Given the description of an element on the screen output the (x, y) to click on. 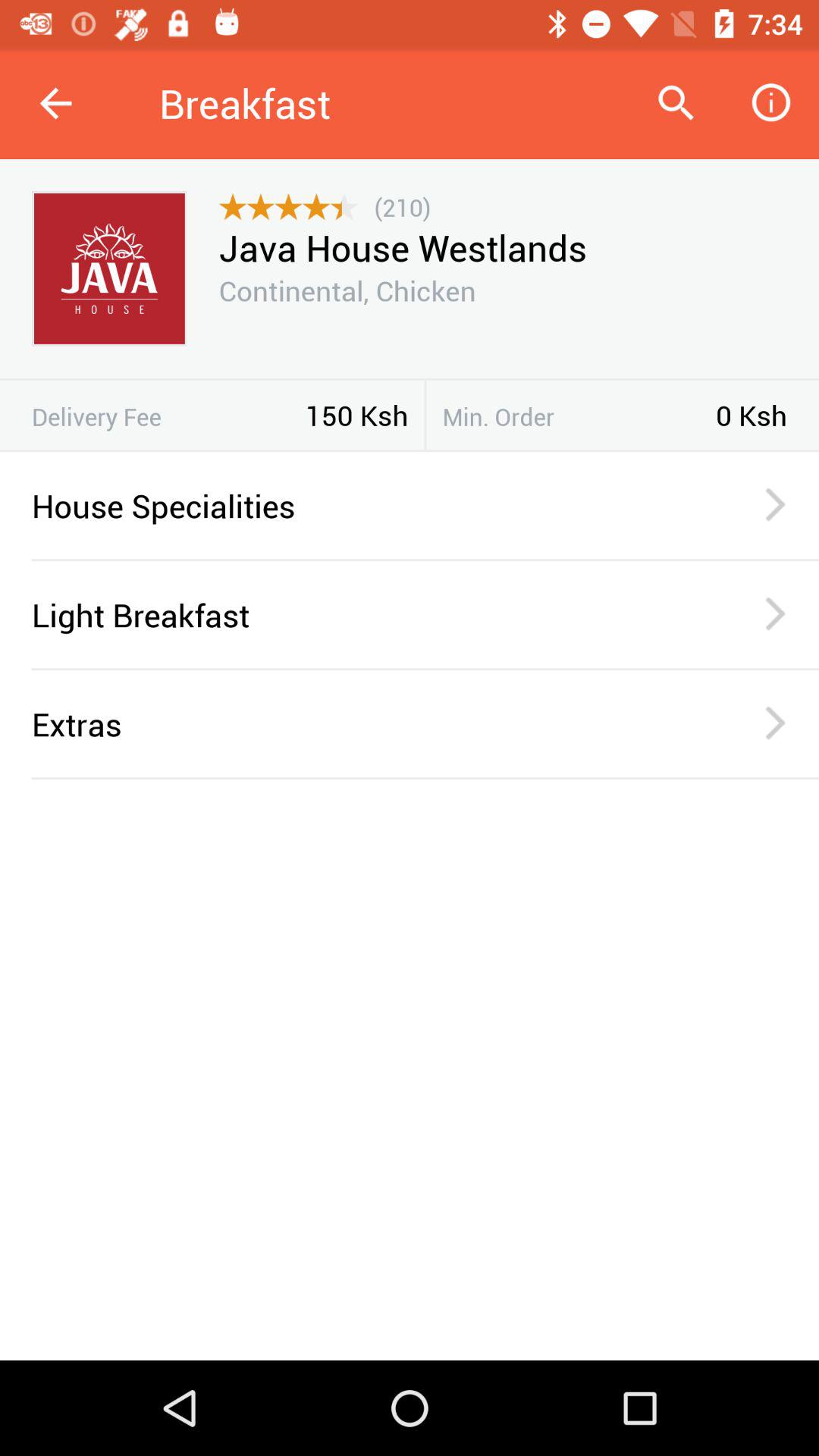
turn on the icon below the extras icon (425, 778)
